Given the description of an element on the screen output the (x, y) to click on. 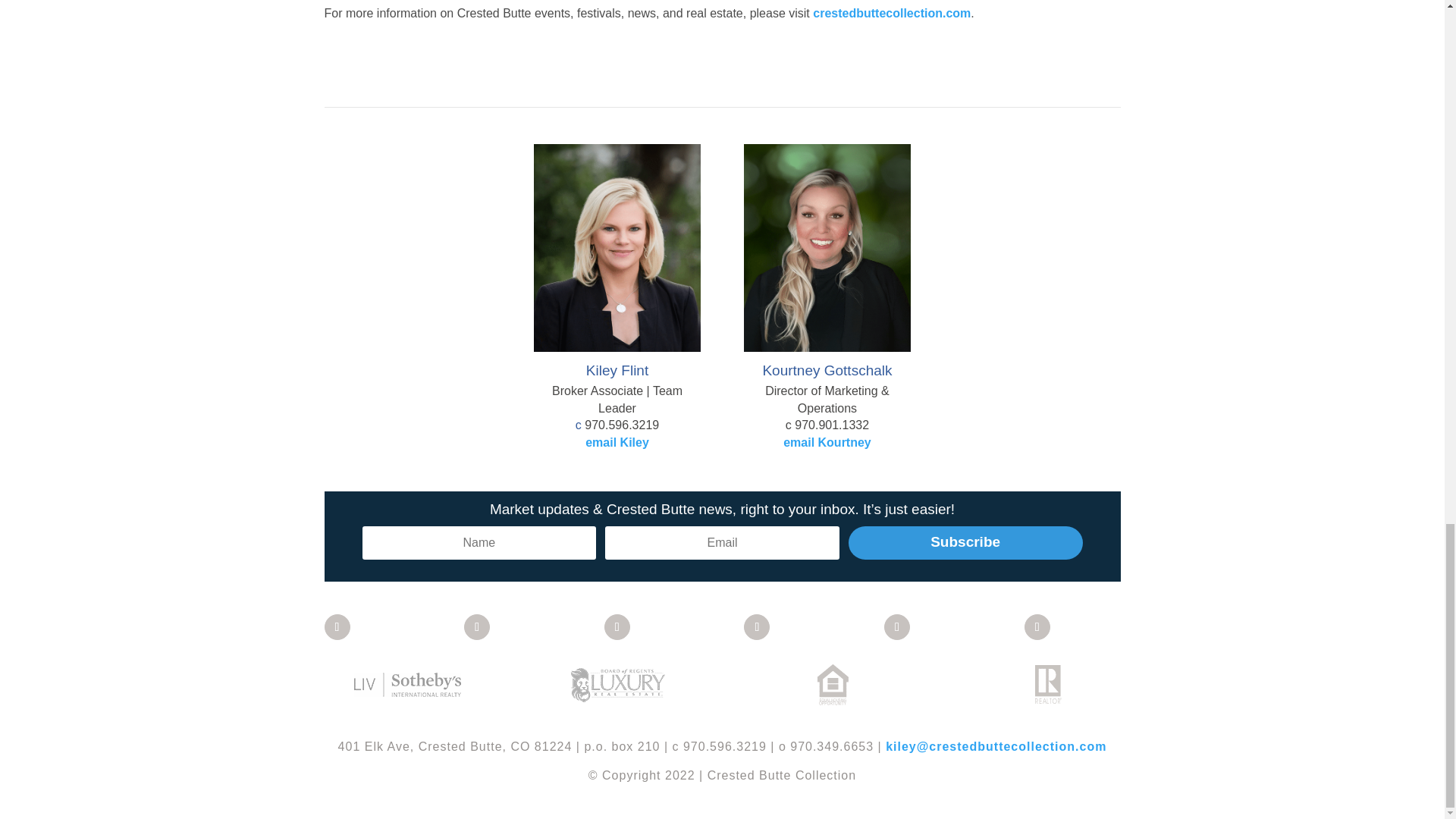
Follow on Youtube (896, 626)
Follow on Pinterest (757, 626)
Luxury Real Estate (617, 684)
LIV Logo - Black Text (407, 684)
Follow on Facebook (337, 626)
Follow on X (476, 626)
Follow on LinkedIn (617, 626)
Follow on Instagram (1037, 626)
